Given the description of an element on the screen output the (x, y) to click on. 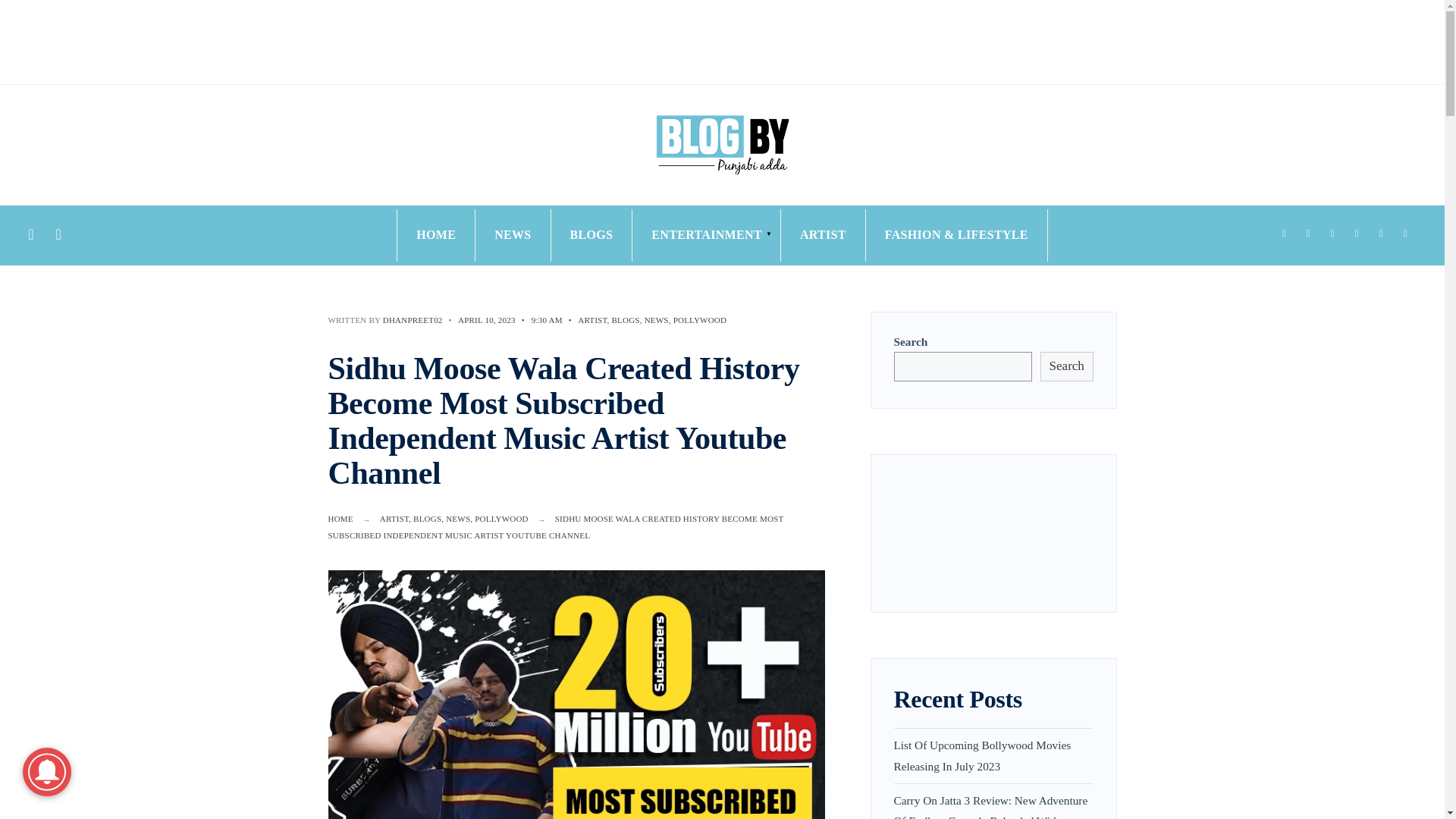
WhatsApp (1404, 233)
Posts by dhanpreet02 (412, 319)
Twitter (1307, 233)
ENTERTAINMENT (706, 235)
ARTIST (823, 235)
NEWS (457, 518)
NEWS (656, 319)
HOME (435, 235)
BLOGS (427, 518)
POLLYWOOD (501, 518)
